Given the description of an element on the screen output the (x, y) to click on. 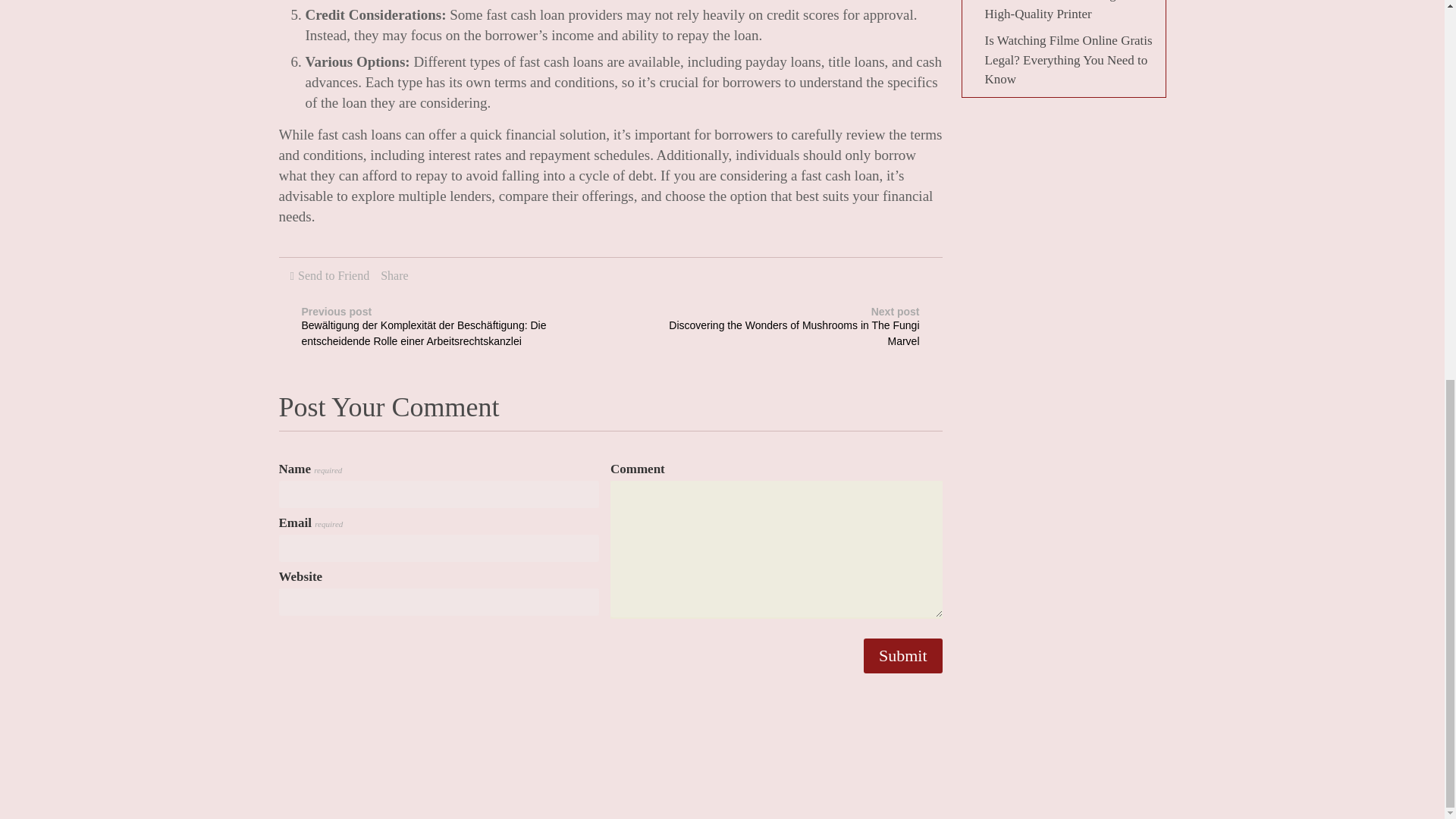
Share (393, 275)
The Benefits of Investing in a High-Quality Printer (1061, 10)
Submit (902, 655)
Send to Friend (333, 275)
Submit (902, 655)
